Given the description of an element on the screen output the (x, y) to click on. 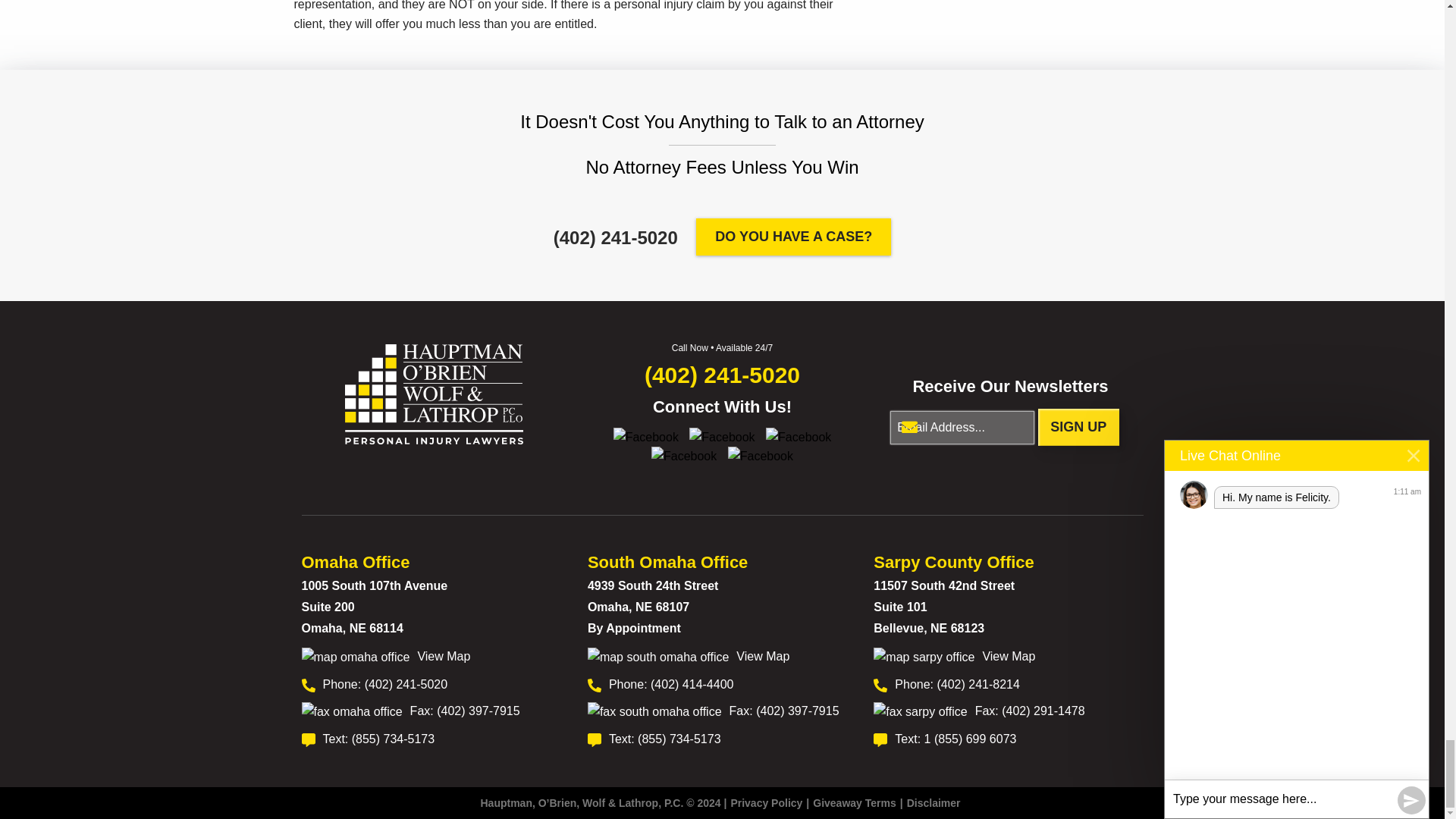
Sign Up (1078, 426)
